Given the description of an element on the screen output the (x, y) to click on. 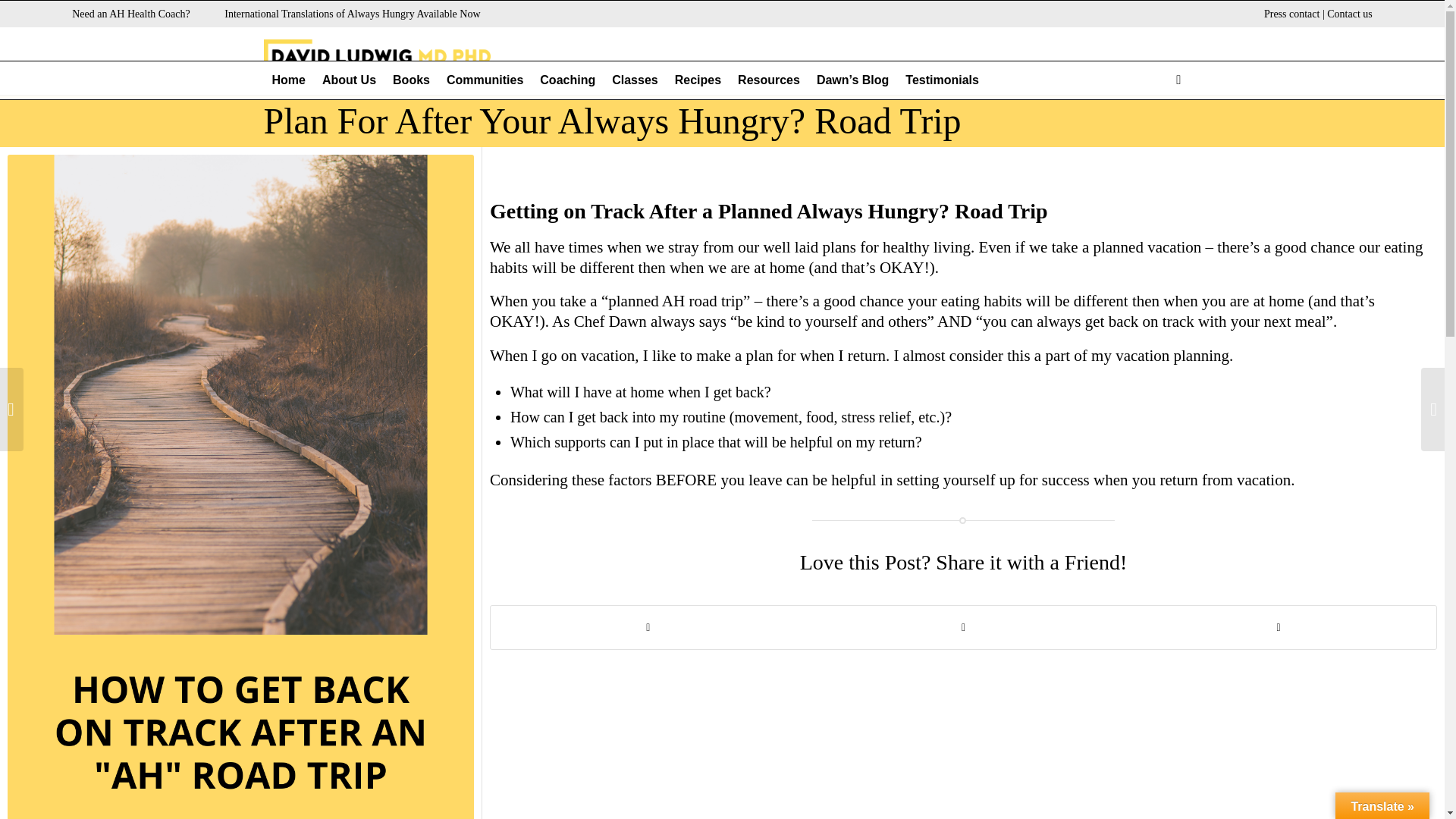
Home (288, 80)
Recipes (697, 80)
International Translations of Always Hungry Available Now (352, 13)
Contact us (1349, 13)
Press contact (1291, 13)
Communities (484, 80)
Permanent Link: Plan For After Your Always Hungry? Road Trip (611, 120)
About Us (349, 80)
Resources (768, 80)
Need an AH Health Coach? (130, 13)
Books (411, 80)
Coaching (567, 80)
Classes (635, 80)
